Given the description of an element on the screen output the (x, y) to click on. 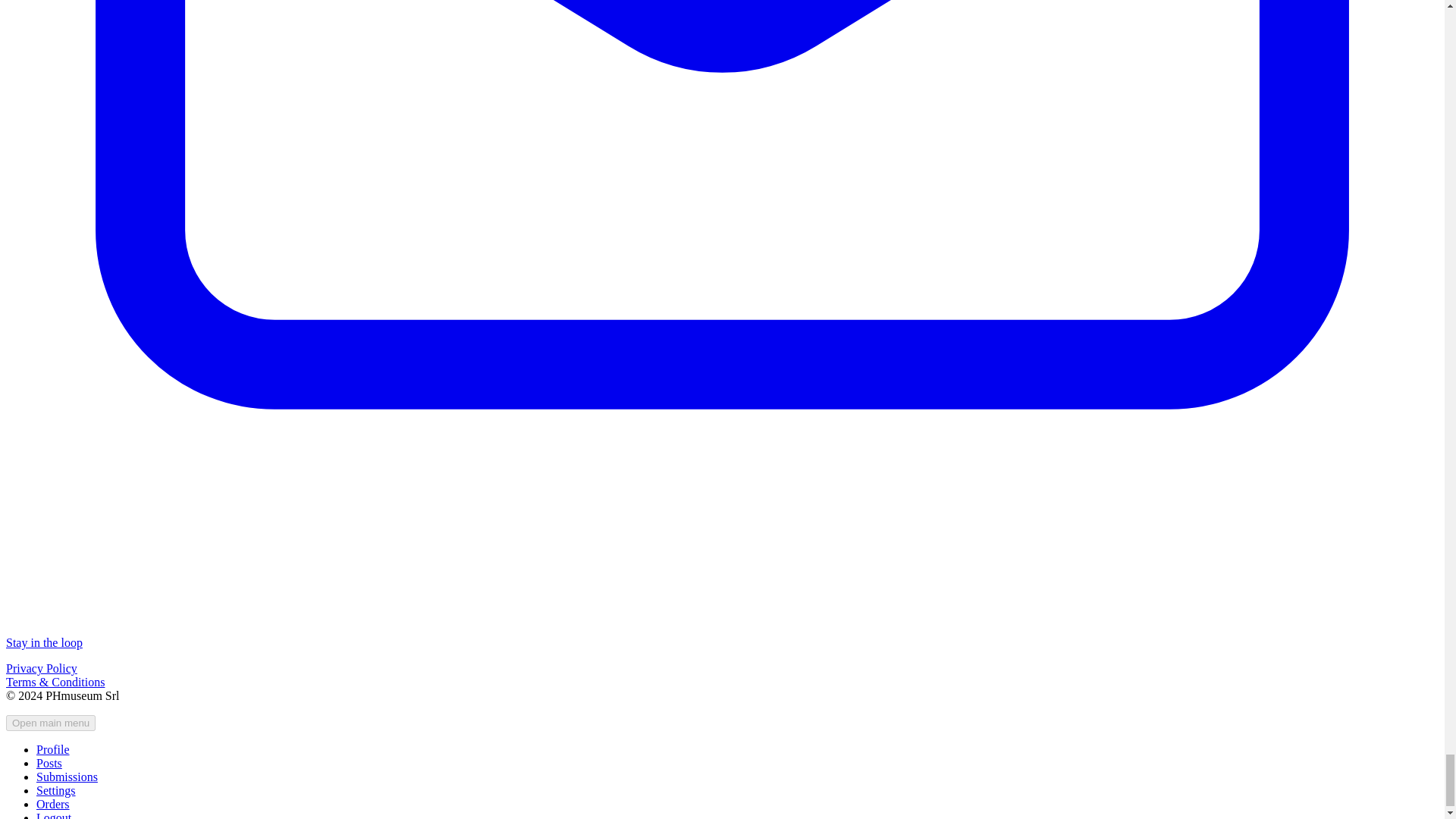
Open main menu (50, 722)
Privacy Policy (41, 667)
Posts (49, 762)
Orders (52, 803)
Profile (52, 748)
Submissions (66, 776)
Settings (55, 789)
